Given the description of an element on the screen output the (x, y) to click on. 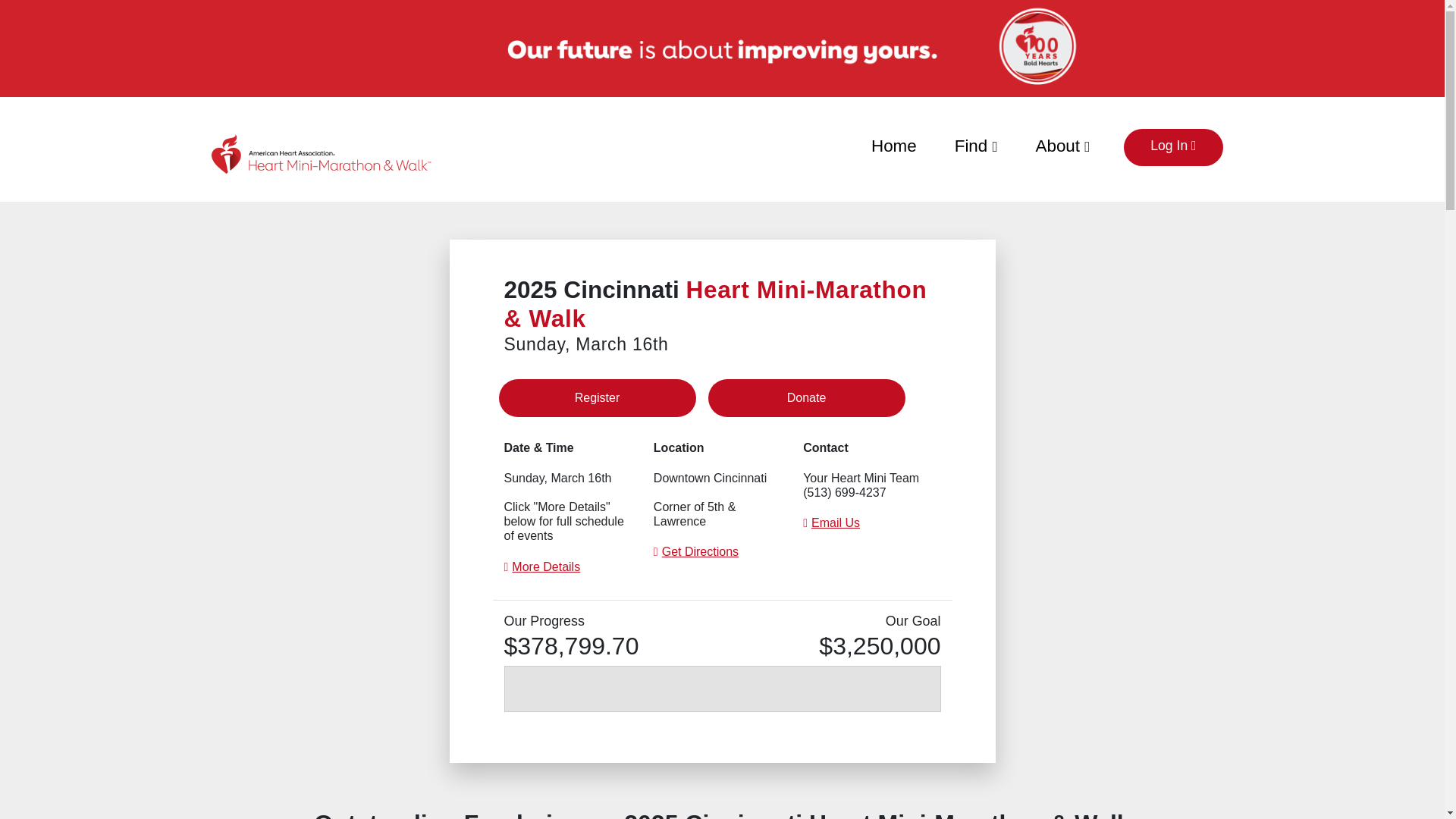
More Details (545, 566)
Get Directions (700, 551)
Register (597, 397)
Home (893, 143)
Log In (1173, 146)
Donate (806, 397)
Return to event page (320, 153)
Find (976, 143)
About (1062, 143)
Email Us (835, 522)
